Given the description of an element on the screen output the (x, y) to click on. 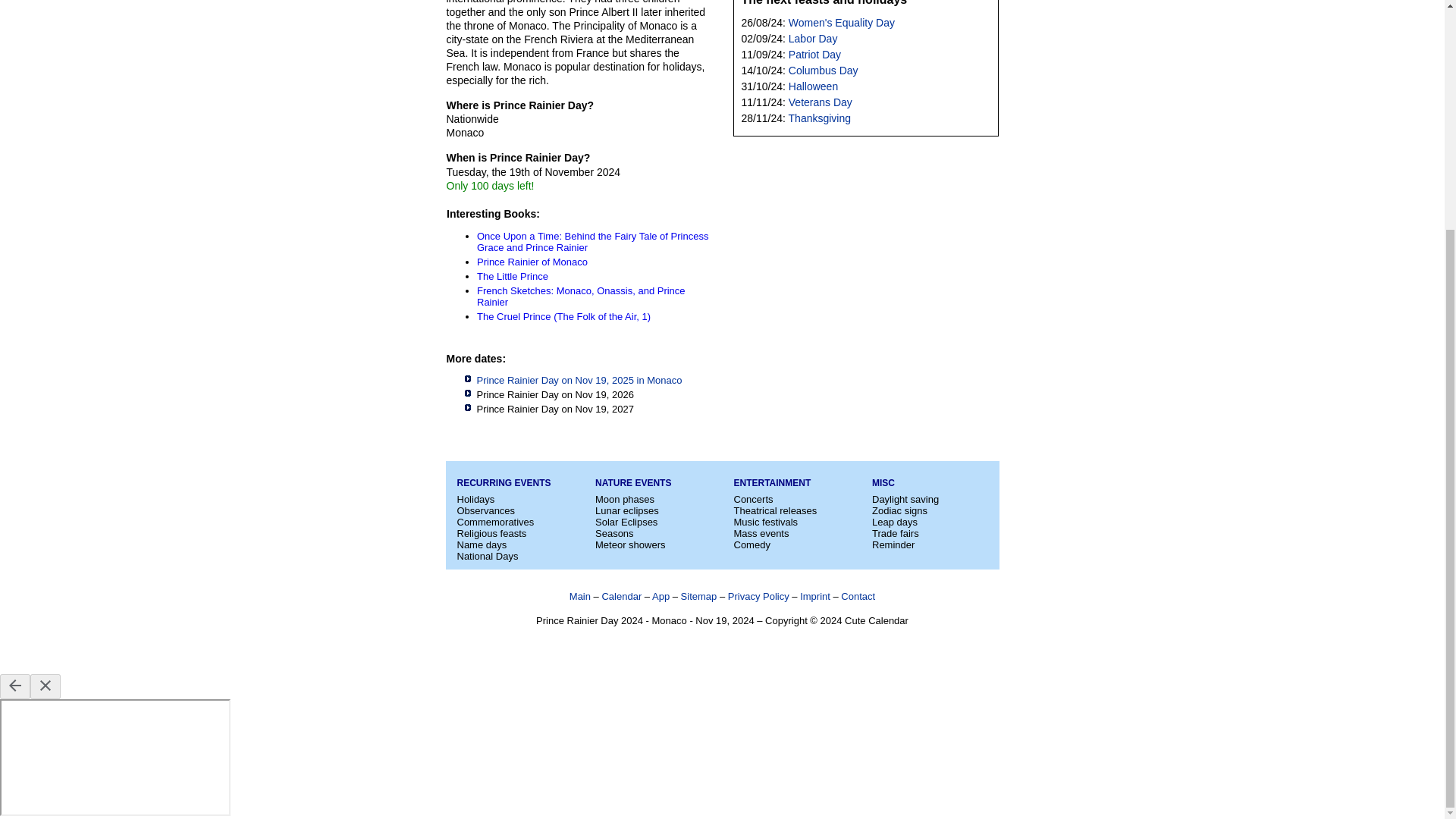
Overview (580, 595)
Prince Rainier Day 2025 in Monaco (578, 379)
Sitemap (699, 595)
Women's Equality Day (842, 22)
National Days (487, 555)
The next feasts and holidays (824, 2)
Calendar (621, 595)
Music festivals (765, 521)
Mass events (761, 532)
Observances (486, 510)
